Given the description of an element on the screen output the (x, y) to click on. 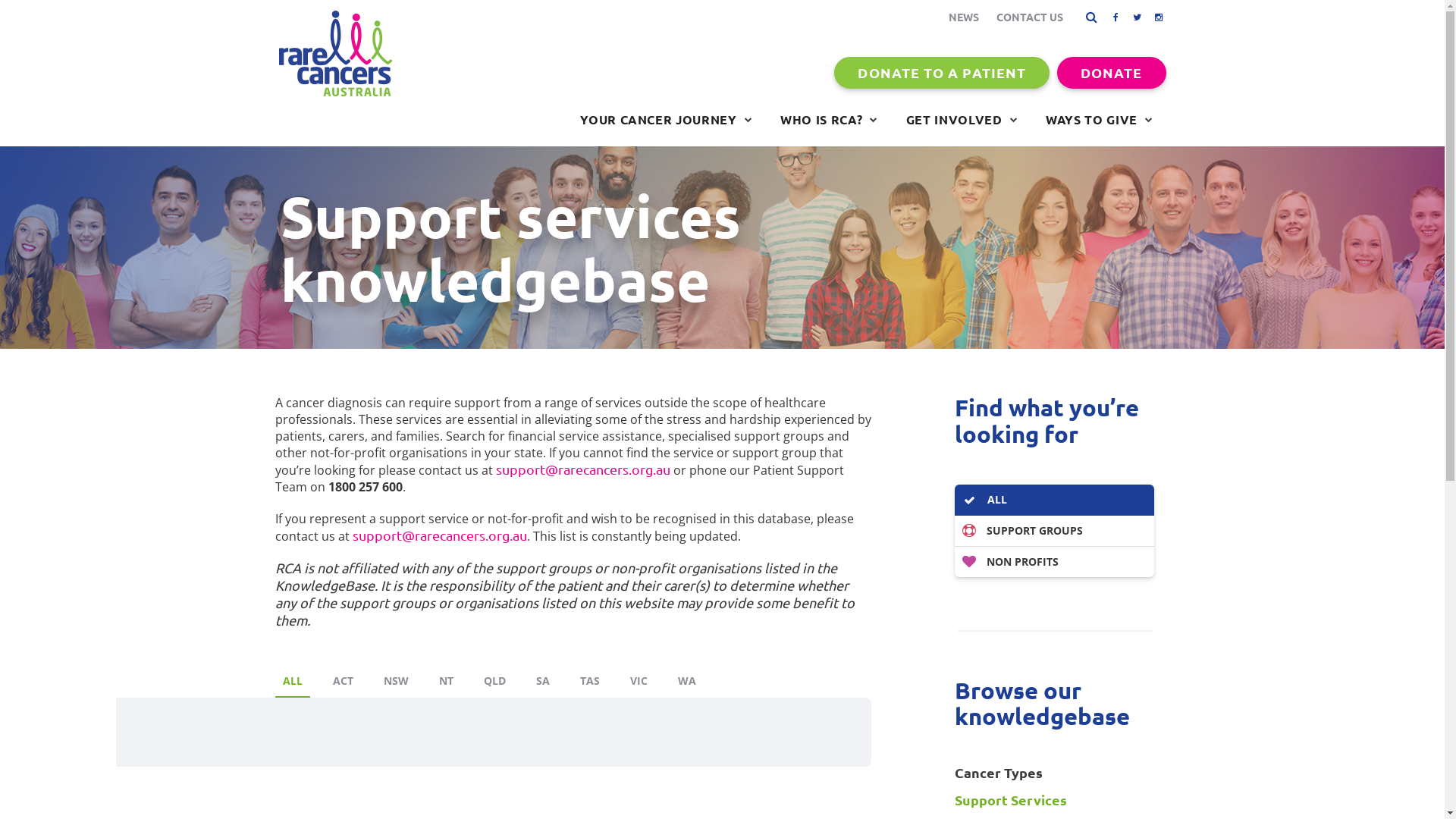
DONATE Element type: text (1111, 72)
ALL Element type: text (1054, 499)
DONATE TO A PATIENT Element type: text (941, 72)
WHO IS RCA? Element type: text (829, 119)
support@rarecancers.org.au Element type: text (438, 534)
support@rarecancers.org.au Element type: text (582, 468)
ALL Element type: text (291, 682)
ACT Element type: text (342, 682)
WAYS TO GIVE Element type: text (1098, 119)
NEWS Element type: text (962, 16)
QLD Element type: text (494, 682)
GET INVOLVED Element type: text (961, 119)
SA Element type: text (541, 682)
NT Element type: text (445, 682)
VIC Element type: text (637, 682)
Support Services Element type: text (1054, 799)
NSW Element type: text (396, 682)
TAS Element type: text (588, 682)
Cancer Types Element type: text (1054, 772)
SUPPORT GROUPS Element type: text (1054, 530)
CONTACT US Element type: text (1029, 16)
WA Element type: text (686, 682)
NON PROFITS Element type: text (1054, 561)
YOUR CANCER JOURNEY Element type: text (666, 119)
